Given the description of an element on the screen output the (x, y) to click on. 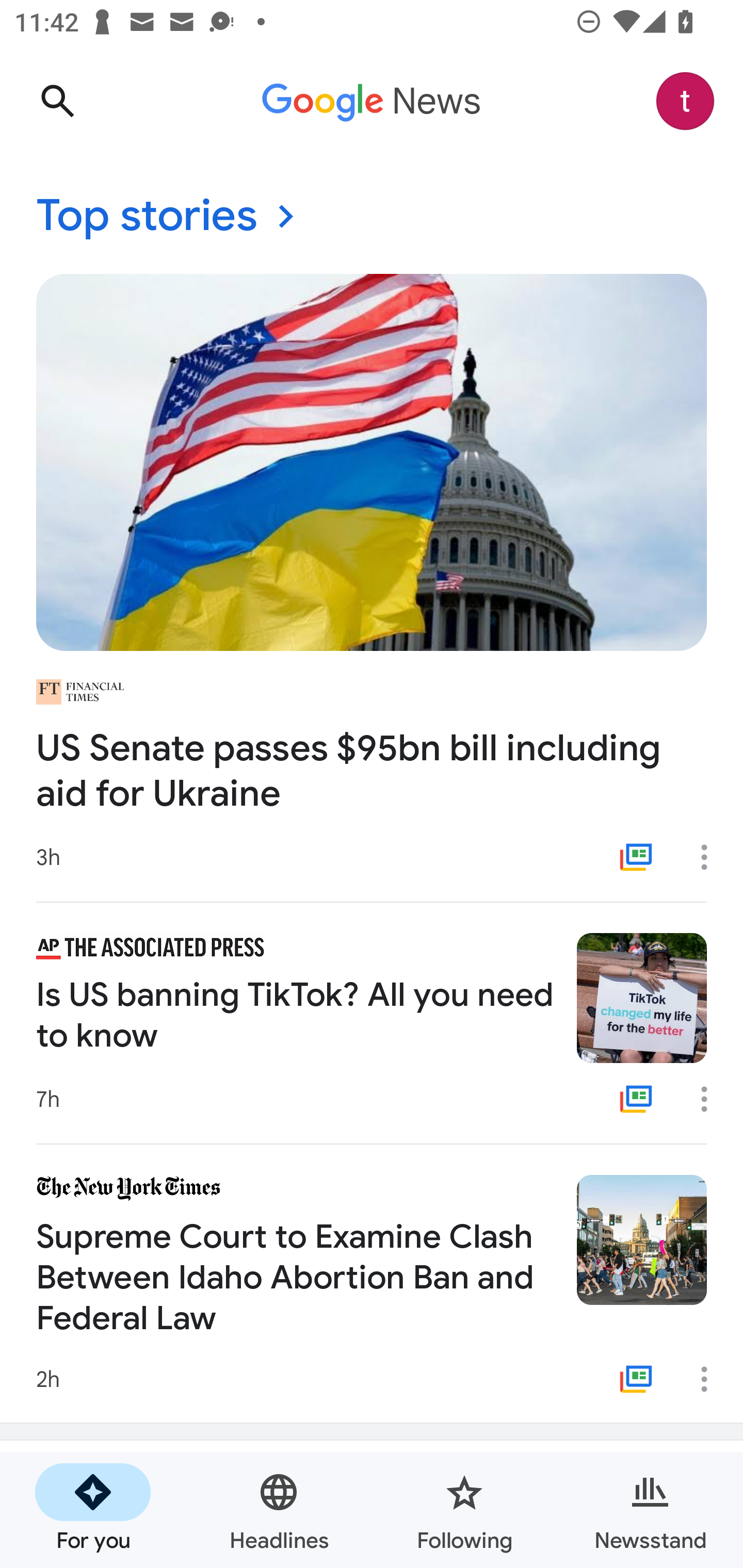
Search (57, 100)
Top stories (371, 216)
More options (711, 856)
More options (711, 1099)
More options (711, 1378)
For you (92, 1509)
Headlines (278, 1509)
Following (464, 1509)
Newsstand (650, 1509)
